Given the description of an element on the screen output the (x, y) to click on. 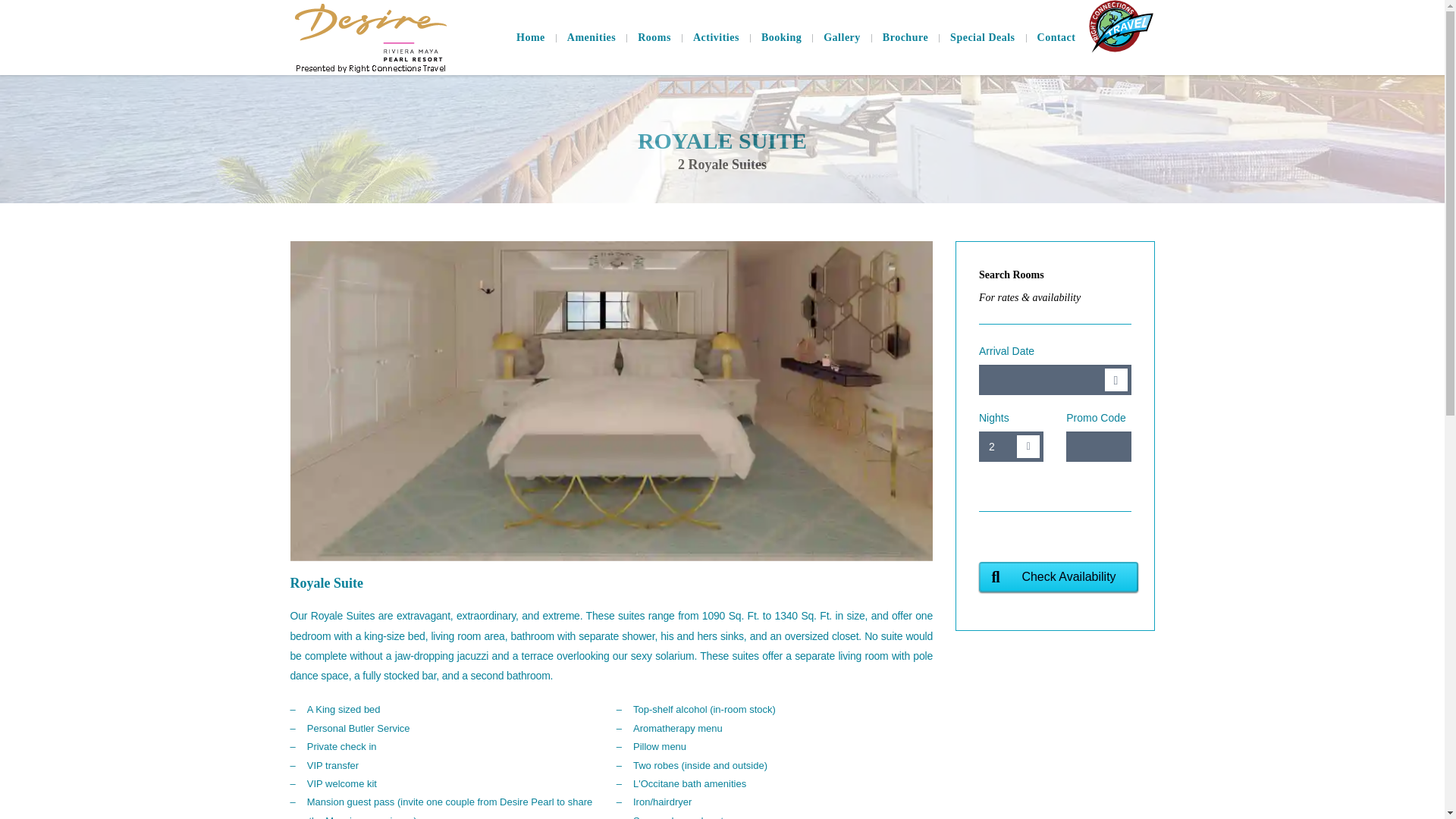
Activities (715, 37)
Amenities (591, 37)
2 (1010, 446)
Special Deals (982, 37)
